Given the description of an element on the screen output the (x, y) to click on. 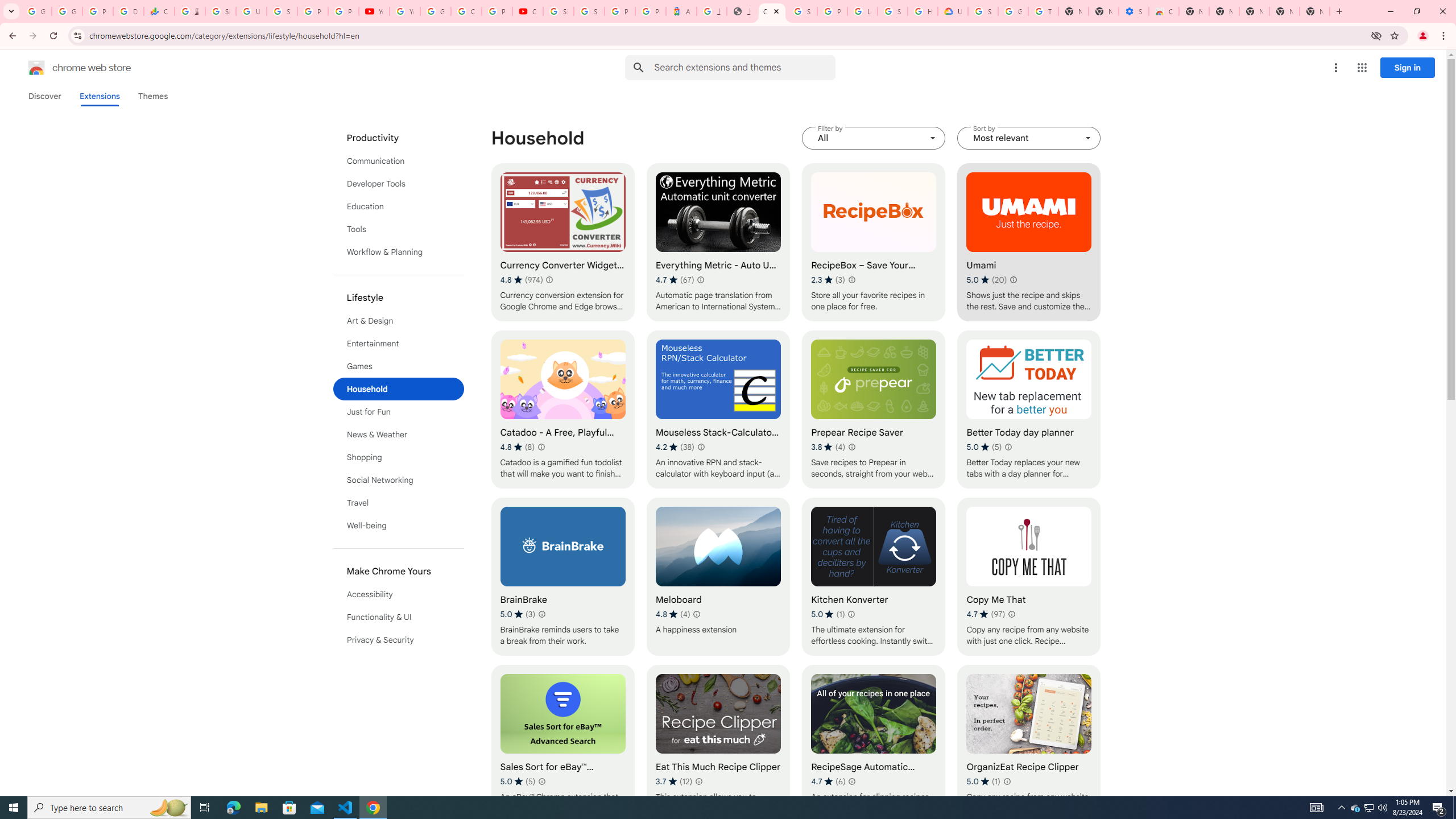
YouTube (404, 11)
Chrome Web Store - Accessibility extensions (1163, 11)
Sign in - Google Accounts (220, 11)
Sign in - Google Accounts (589, 11)
New Tab (1314, 11)
Google Account Help (1012, 11)
Household (selected) (398, 388)
